Given the description of an element on the screen output the (x, y) to click on. 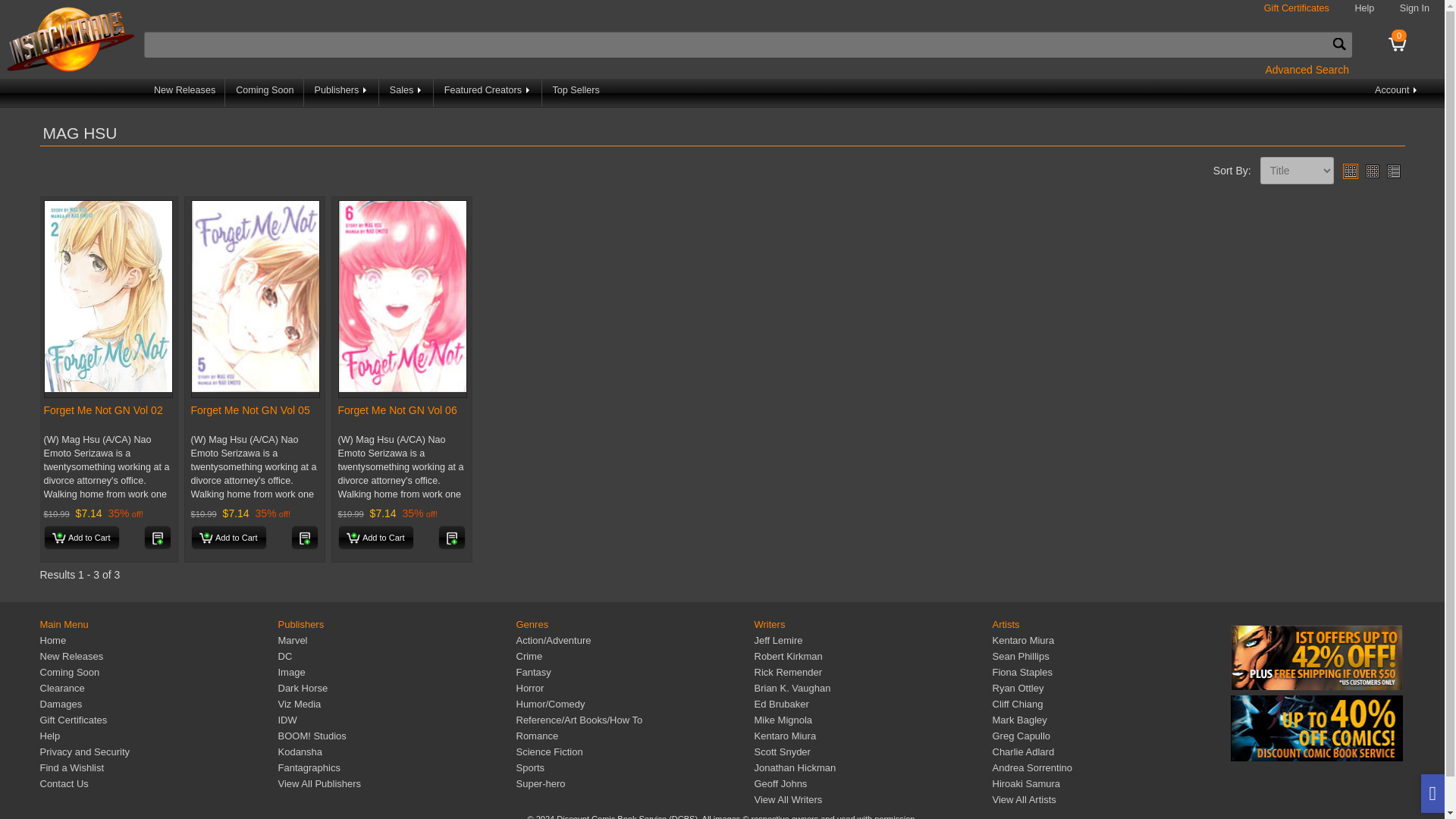
Advanced Search (1307, 69)
Add to Cart (228, 537)
Add to Cart (375, 537)
Gift Certificates (1296, 8)
Thumbnails Only View (1371, 171)
Publishers (341, 92)
Coming Soon (264, 92)
Top Sellers (575, 92)
New Releases (184, 92)
Forget Me Not GN Vol 02 (103, 410)
